Given the description of an element on the screen output the (x, y) to click on. 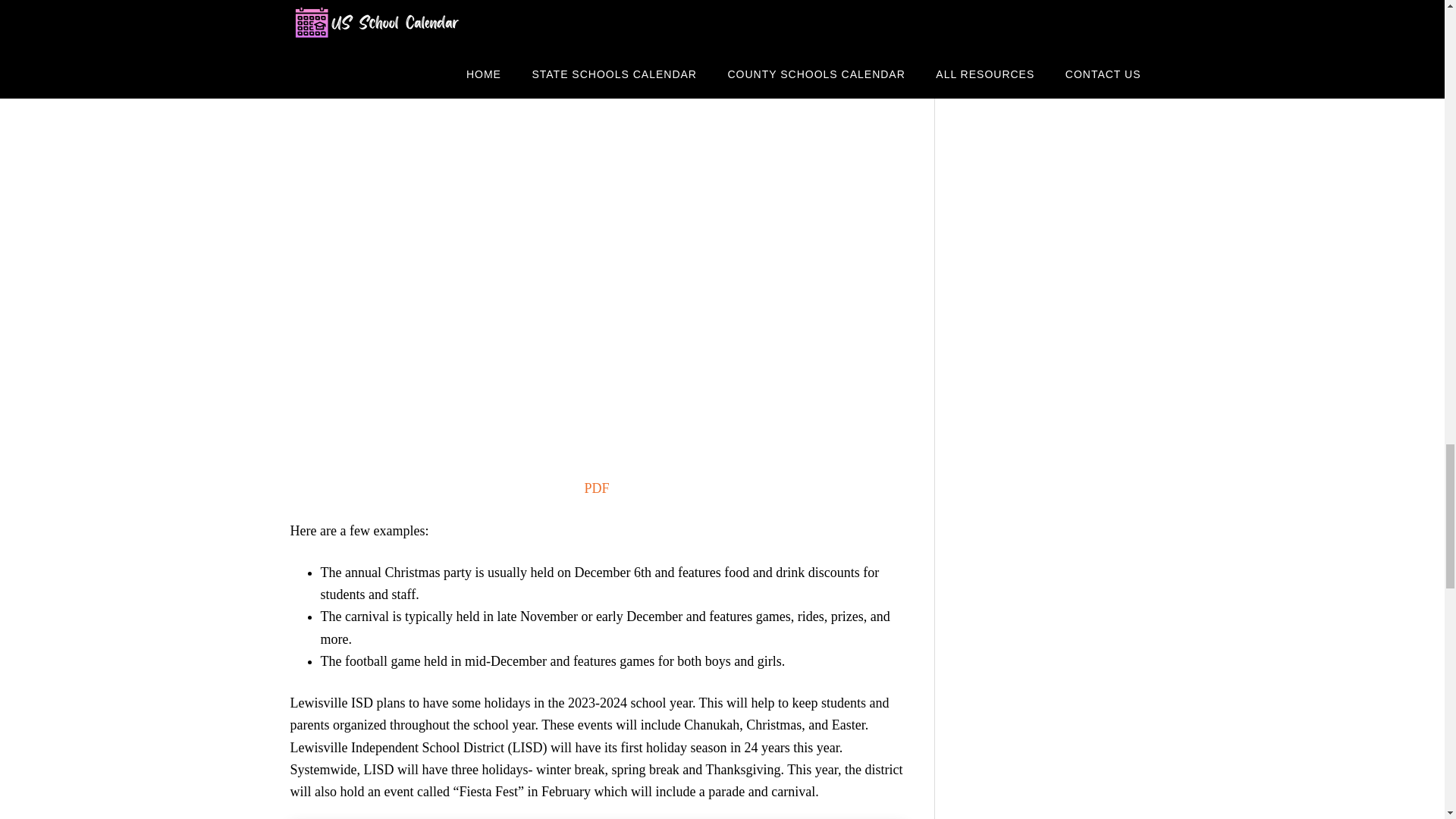
PDF (595, 488)
